Given the description of an element on the screen output the (x, y) to click on. 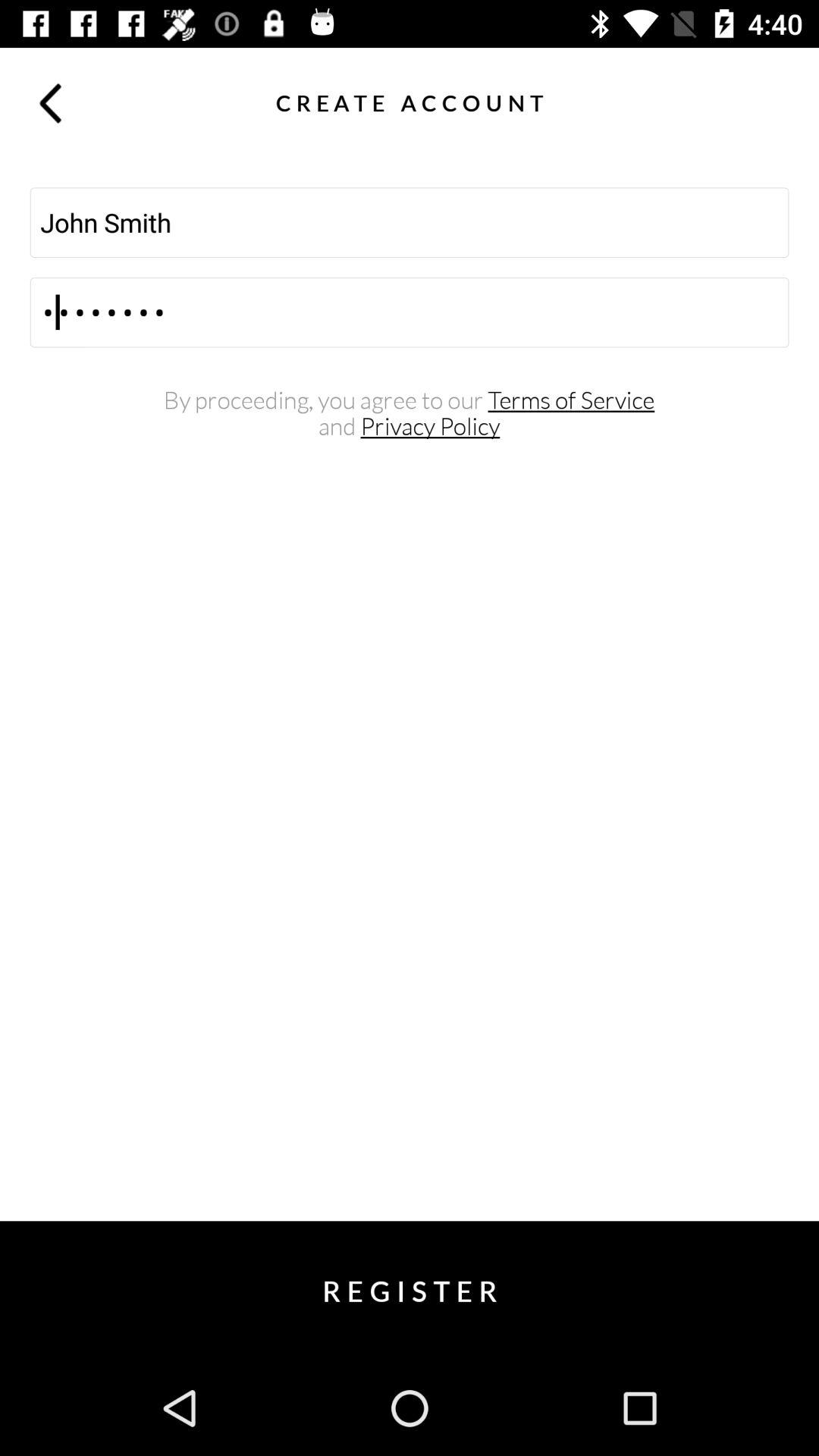
click the and privacy policy (408, 426)
